Given the description of an element on the screen output the (x, y) to click on. 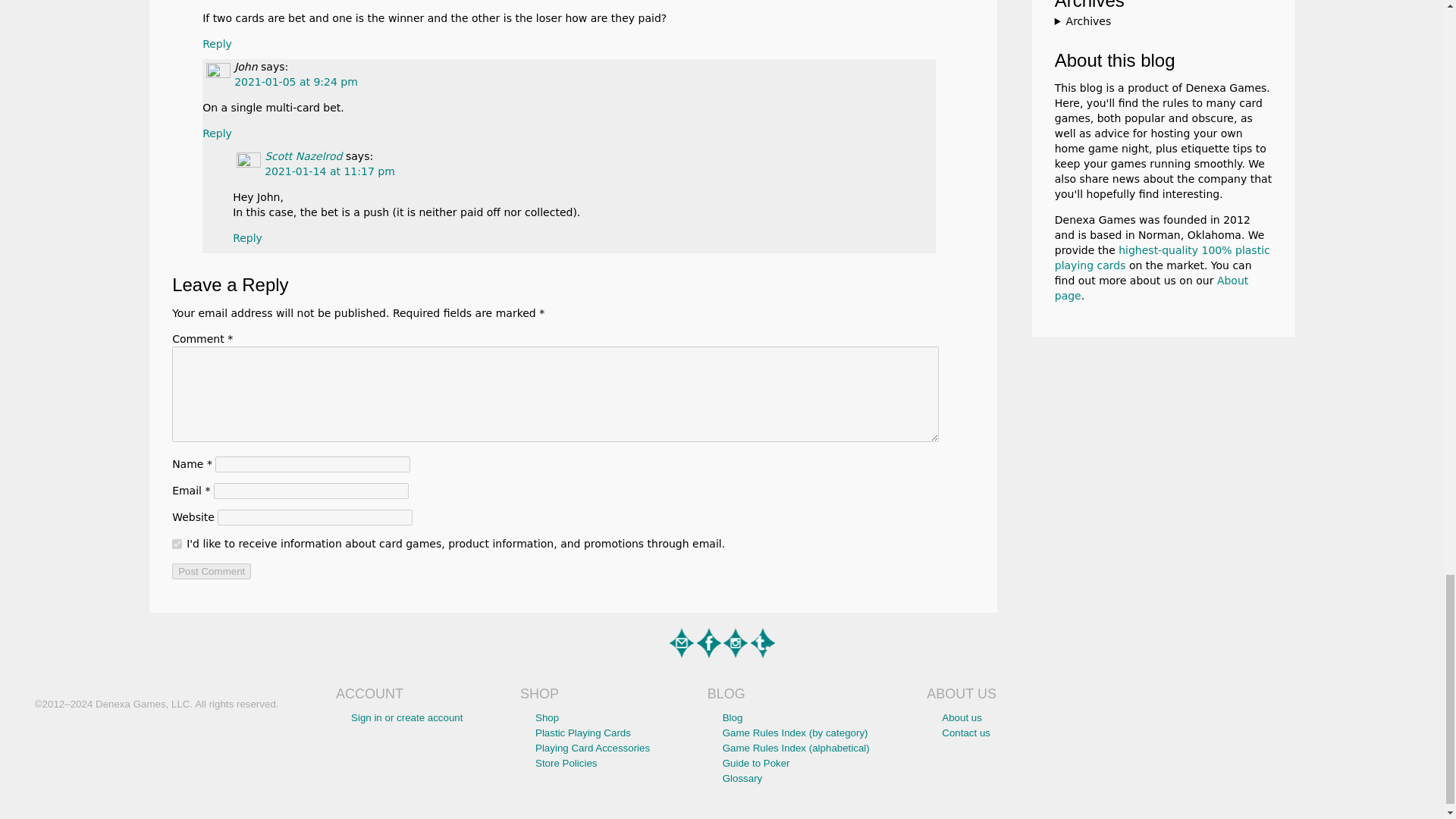
2021-01-05 at 9:24 pm (296, 81)
Scott Nazelrod (303, 155)
Reply (216, 43)
Post Comment (210, 571)
1 (176, 543)
Reply (216, 133)
2021-01-14 at 11:17 pm (329, 171)
